Given the description of an element on the screen output the (x, y) to click on. 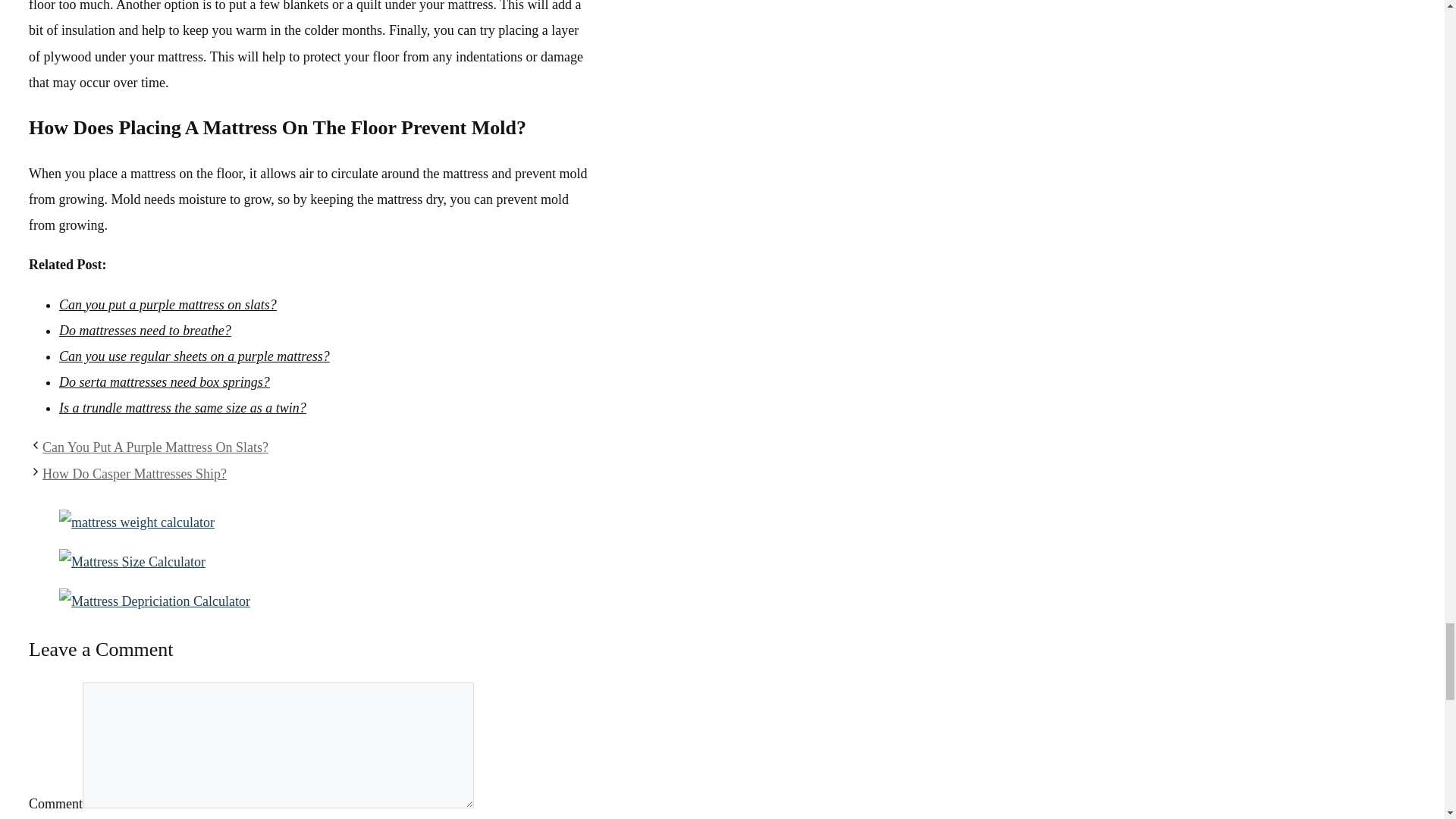
Do mattresses need to breathe? (145, 330)
Can you put a purple mattress on slats? (167, 304)
Do serta mattresses need box springs? (164, 381)
Can you use regular sheets on a purple mattress? (194, 355)
